Given the description of an element on the screen output the (x, y) to click on. 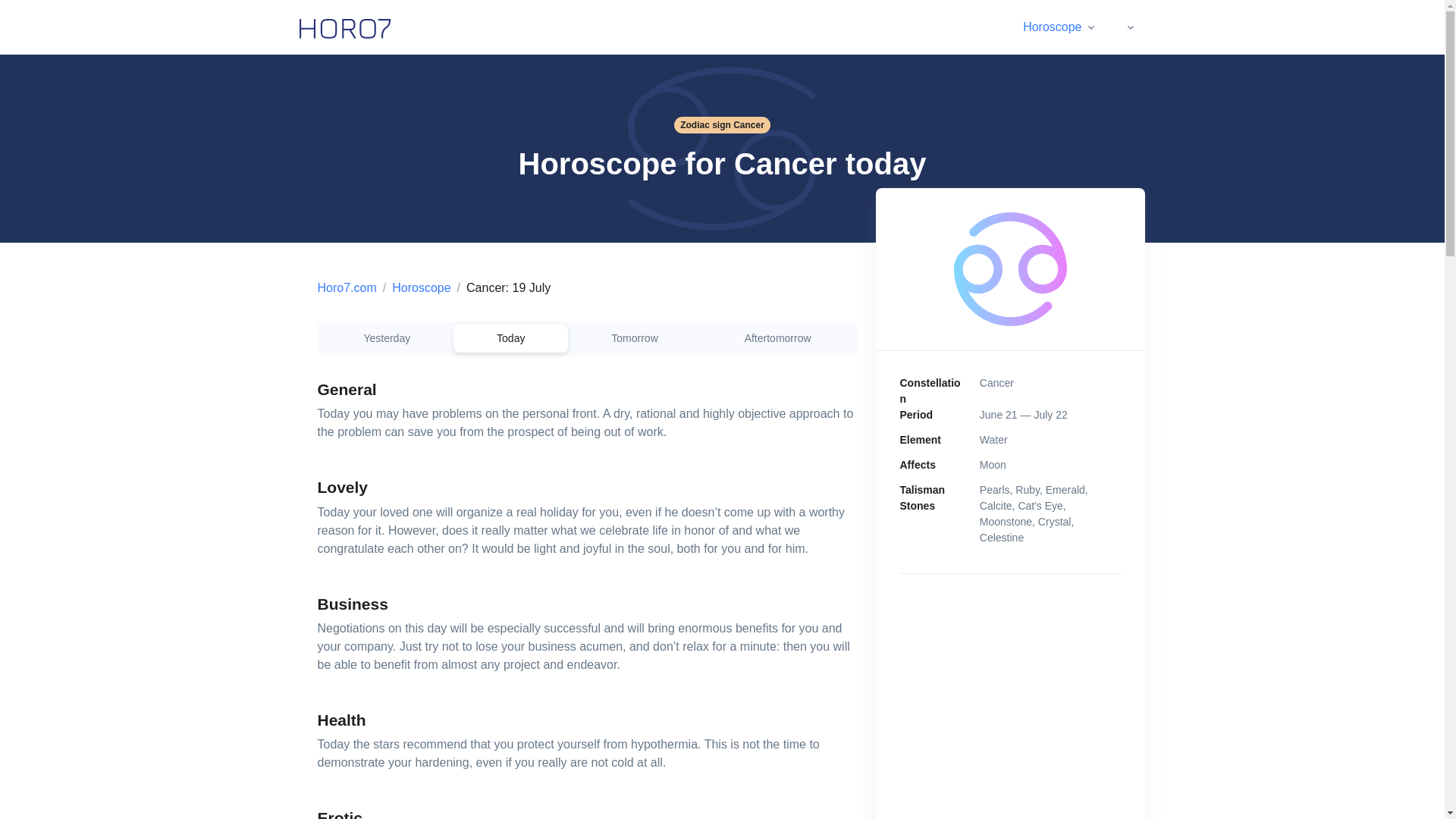
Horoscope (420, 287)
Advertisement (1010, 705)
Today (509, 338)
Aftertomorrow (777, 338)
Tomorrow (633, 338)
Yesterday (386, 338)
Horoscope (1078, 26)
Horo7.com (346, 287)
Horoscope (1059, 26)
